Given the description of an element on the screen output the (x, y) to click on. 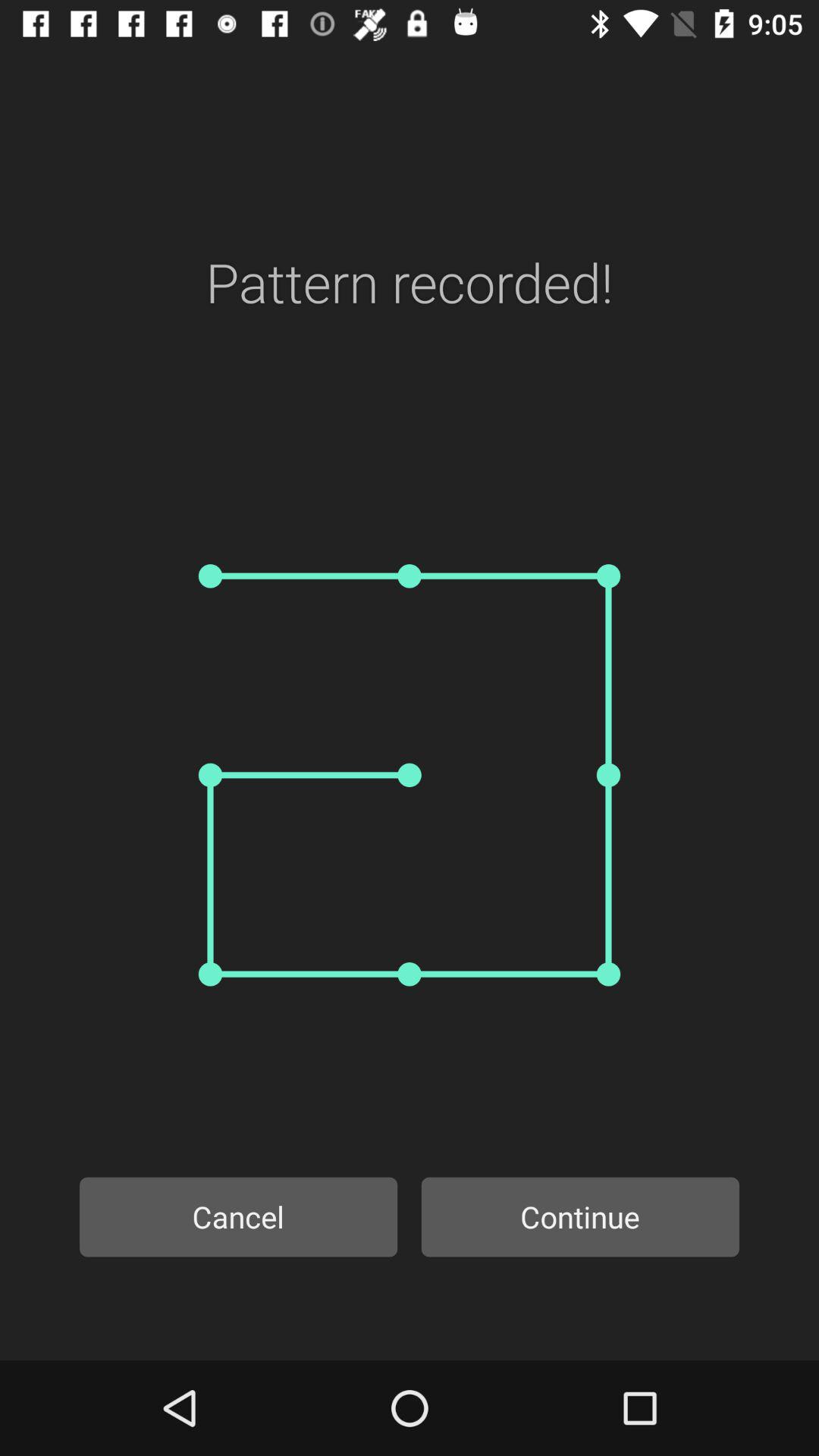
choose icon to the right of cancel icon (580, 1216)
